Given the description of an element on the screen output the (x, y) to click on. 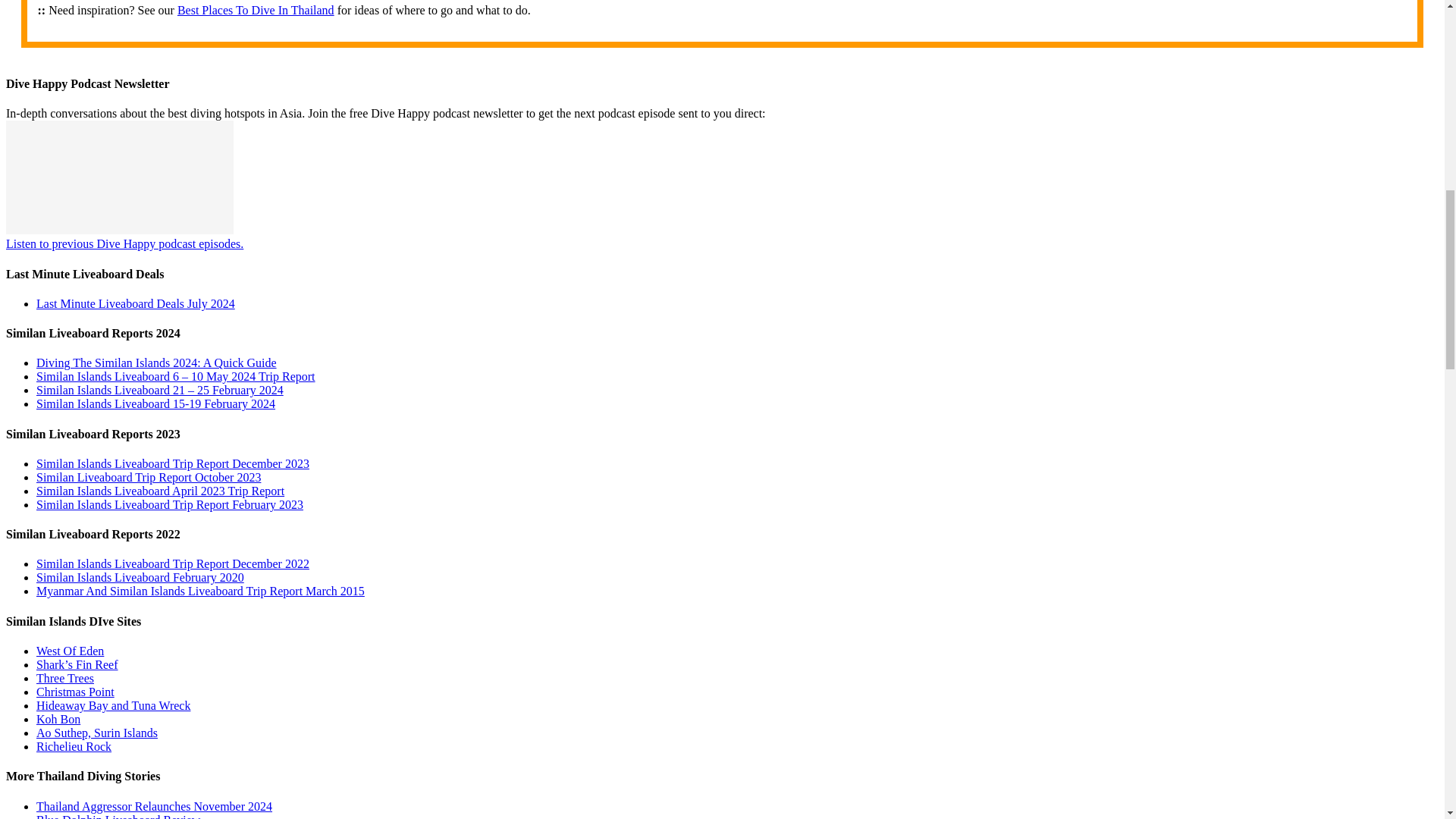
Blue Dolphin Liveaboard Review (118, 816)
Hideaway Bay and Tuna Wreck (113, 705)
Diving The Similan Islands 2024: A Quick Guide (156, 362)
Similan Islands Liveaboard Trip Report February 2023 (169, 504)
Koh Bon (58, 718)
Richelieu Rock (74, 746)
Similan Islands Liveaboard Trip Report December 2022 (172, 563)
Similan Islands Liveaboard 15-19 February 2024 (155, 403)
Christmas Point (75, 691)
Thailand Aggressor Relaunches November 2024 (154, 805)
Similan Liveaboard Trip Report October 2023 (148, 477)
Three Trees (65, 677)
Similan Islands Liveaboard Trip Report December 2023 (172, 463)
Similan Islands Liveaboard February 2020 (140, 576)
